Given the description of an element on the screen output the (x, y) to click on. 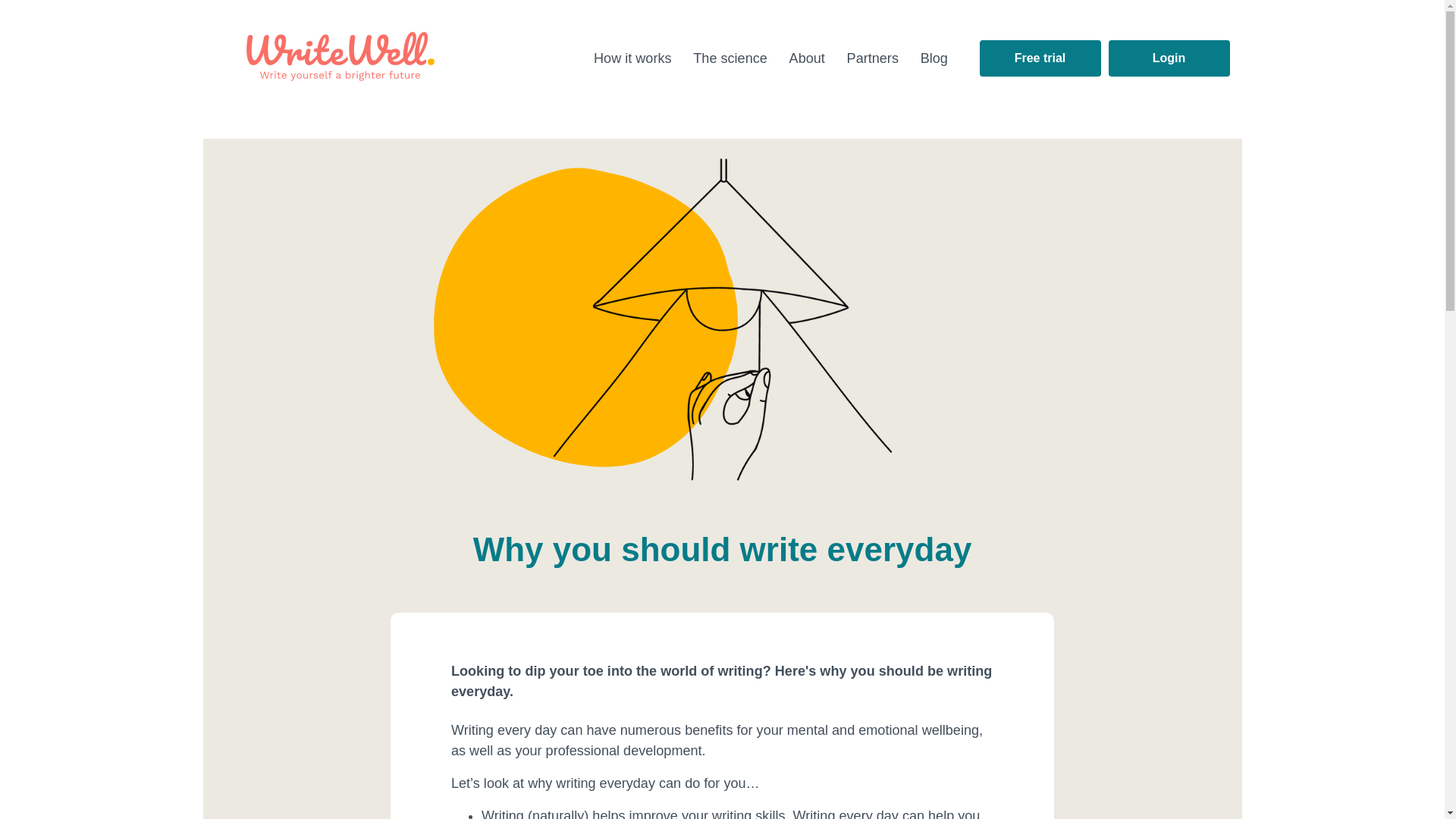
Partners (874, 57)
Blog (936, 57)
About (809, 57)
Login (1169, 57)
How it works (634, 57)
The science (732, 57)
Free trial (1039, 57)
